Given the description of an element on the screen output the (x, y) to click on. 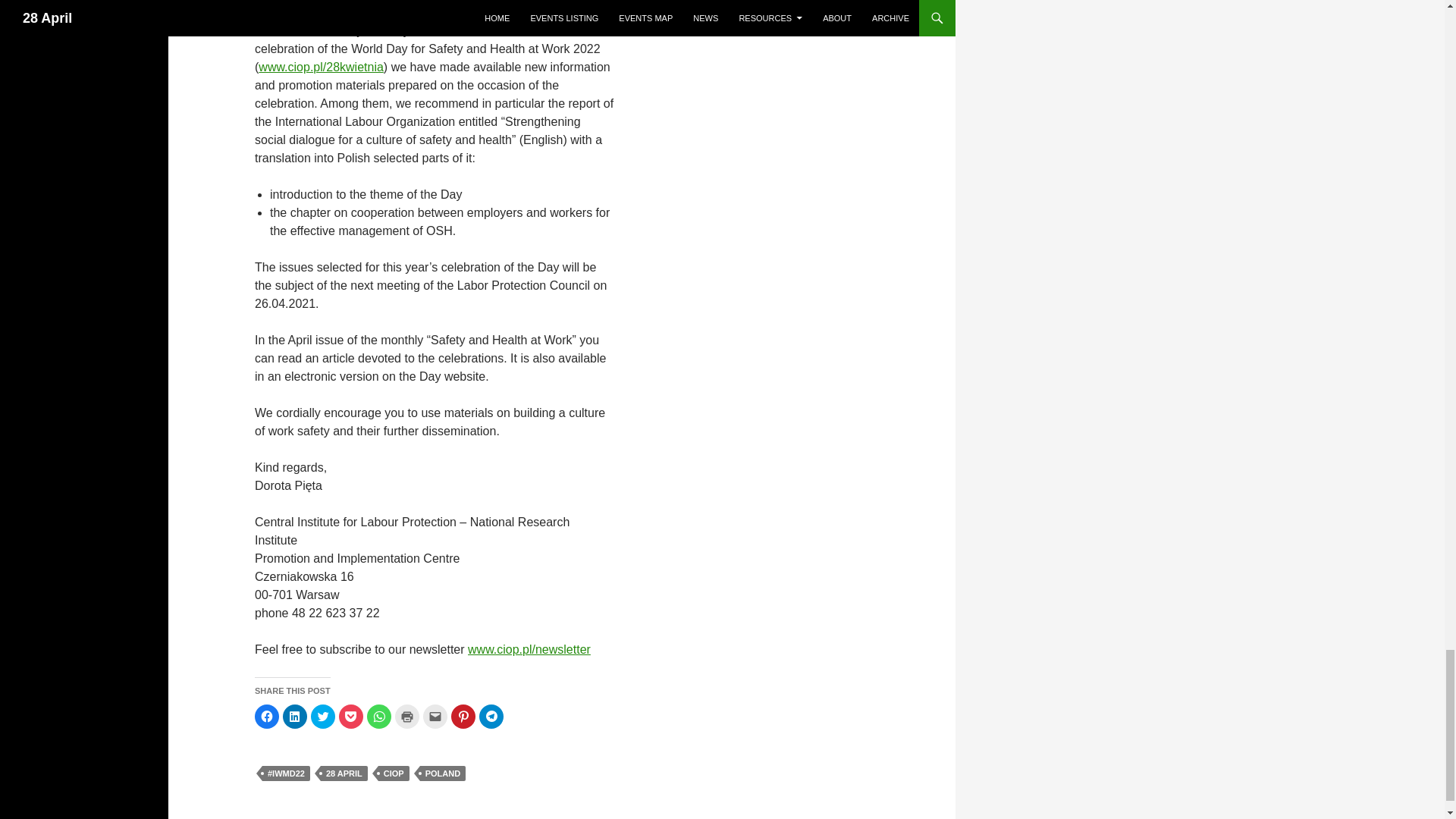
Click to share on Facebook (266, 716)
Click to print (406, 716)
Click to share on LinkedIn (294, 716)
Click to share on Twitter (322, 716)
Click to share on Pocket (350, 716)
Click to share on WhatsApp (378, 716)
Click to email a link to a friend (434, 716)
